Given the description of an element on the screen output the (x, y) to click on. 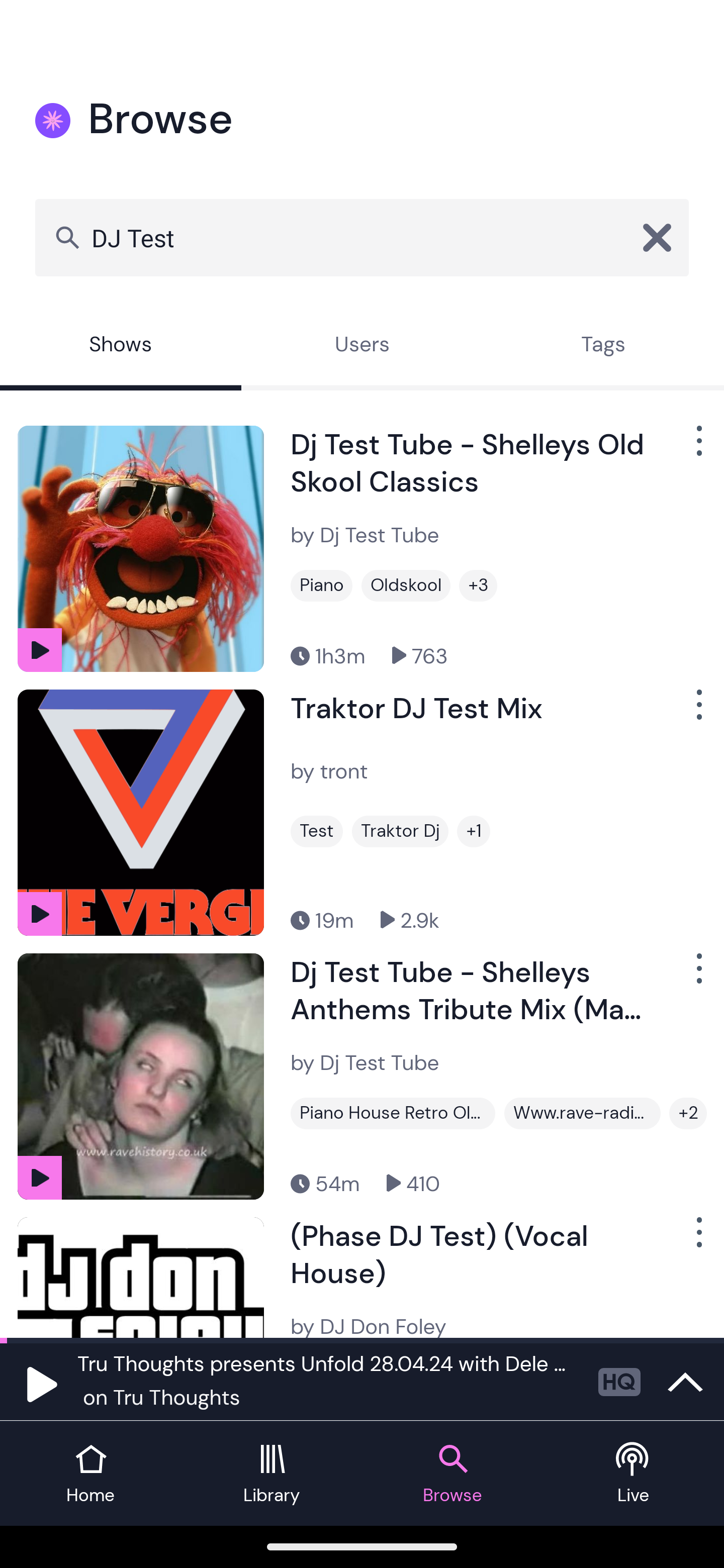
DJ Test (361, 237)
Shows (120, 346)
Users (361, 346)
Tags (603, 346)
Show Options Menu Button (697, 447)
Piano (321, 585)
Oldskool (405, 585)
Show Options Menu Button (697, 712)
Test (316, 830)
Traktor Dj (399, 830)
Show Options Menu Button (697, 975)
Piano House Retro Old Skool (392, 1112)
Www.rave-radio.com (582, 1112)
Show Options Menu Button (697, 1239)
Home tab Home (90, 1473)
Library tab Library (271, 1473)
Browse tab Browse (452, 1473)
Live tab Live (633, 1473)
